Given the description of an element on the screen output the (x, y) to click on. 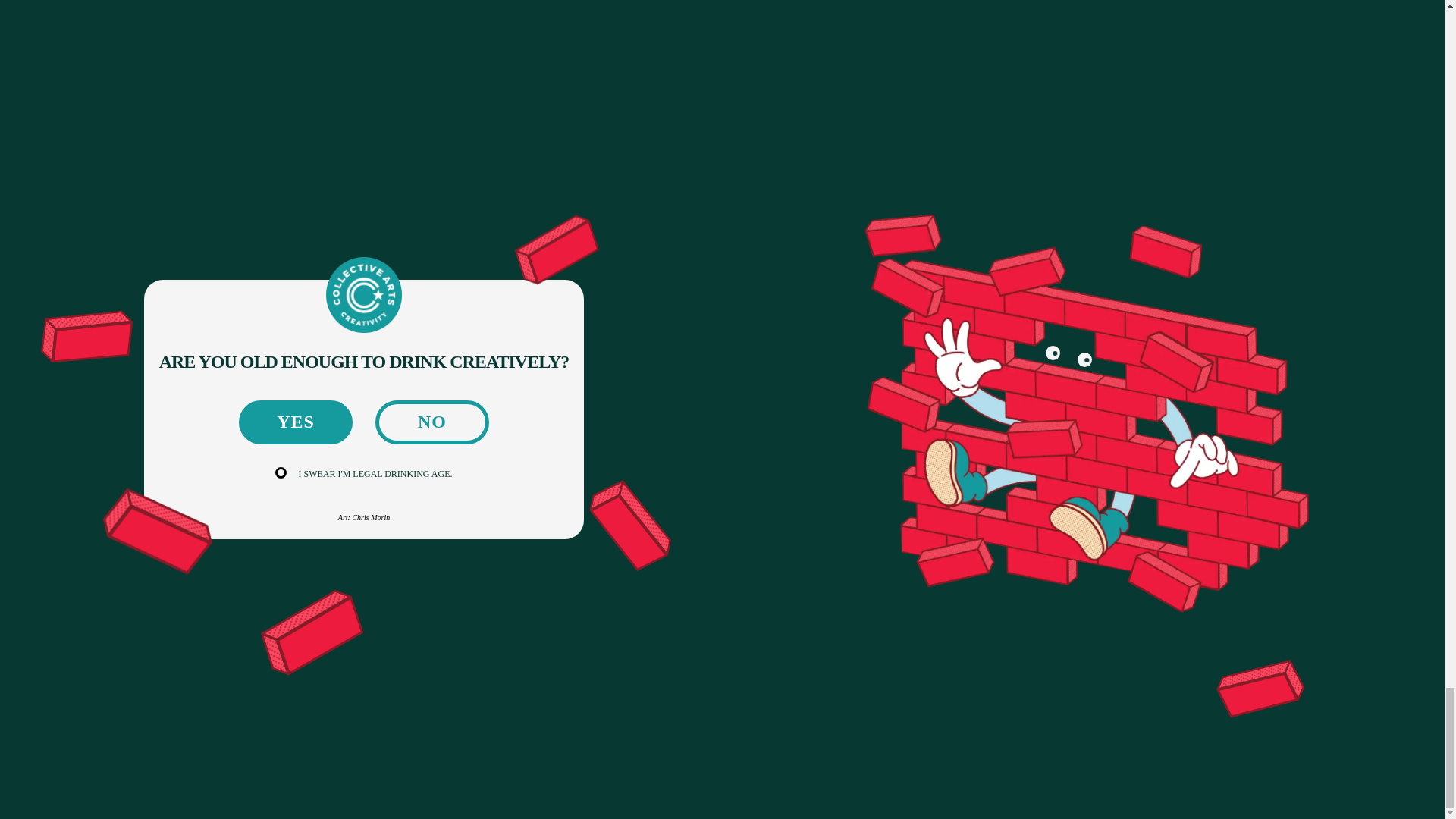
Ready To Drink (357, 620)
Events (524, 669)
Get Inspired (537, 596)
Call For Art (536, 620)
Non-Alc (341, 669)
Spaces (524, 645)
email (847, 571)
Register (1275, 633)
Our Beverages (542, 572)
Energy (337, 645)
Ordering Info (352, 718)
Gift Cards (345, 693)
Spirits (335, 596)
